Given the description of an element on the screen output the (x, y) to click on. 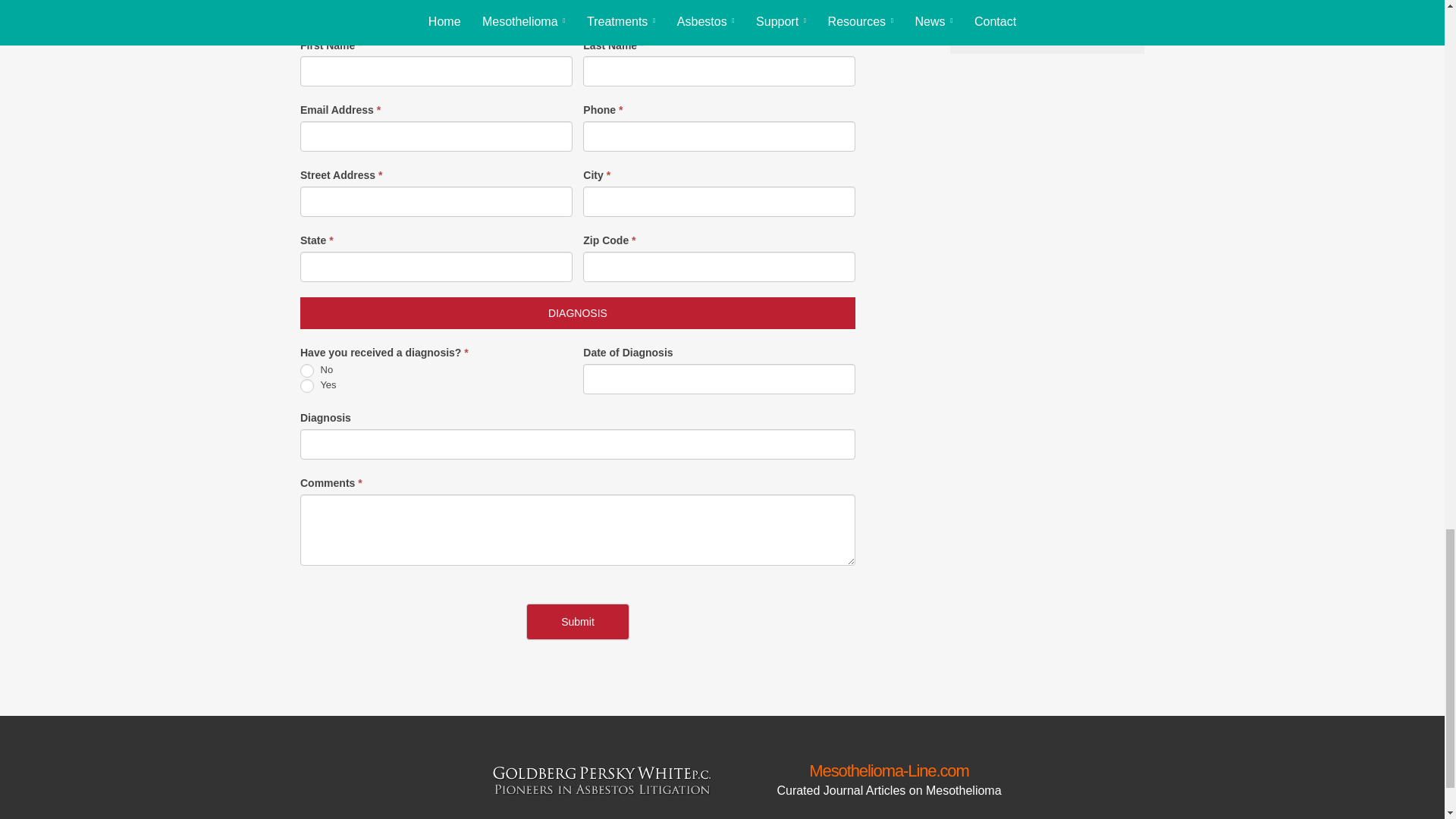
Yes (306, 386)
No (306, 370)
